Given the description of an element on the screen output the (x, y) to click on. 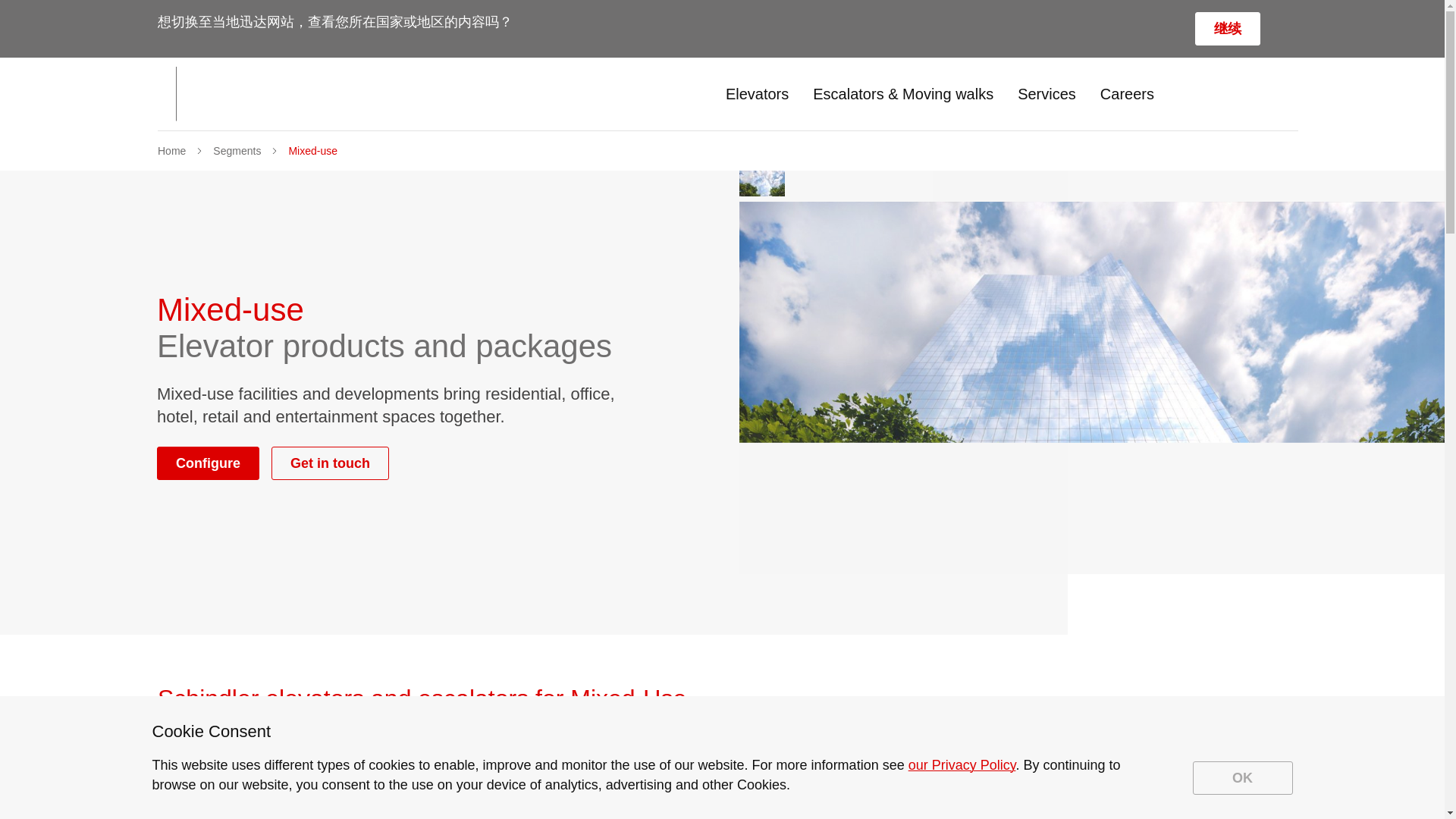
Search (1200, 94)
Elevators (757, 93)
Careers (1127, 93)
Contact us (1288, 94)
Services (1046, 93)
